Given the description of an element on the screen output the (x, y) to click on. 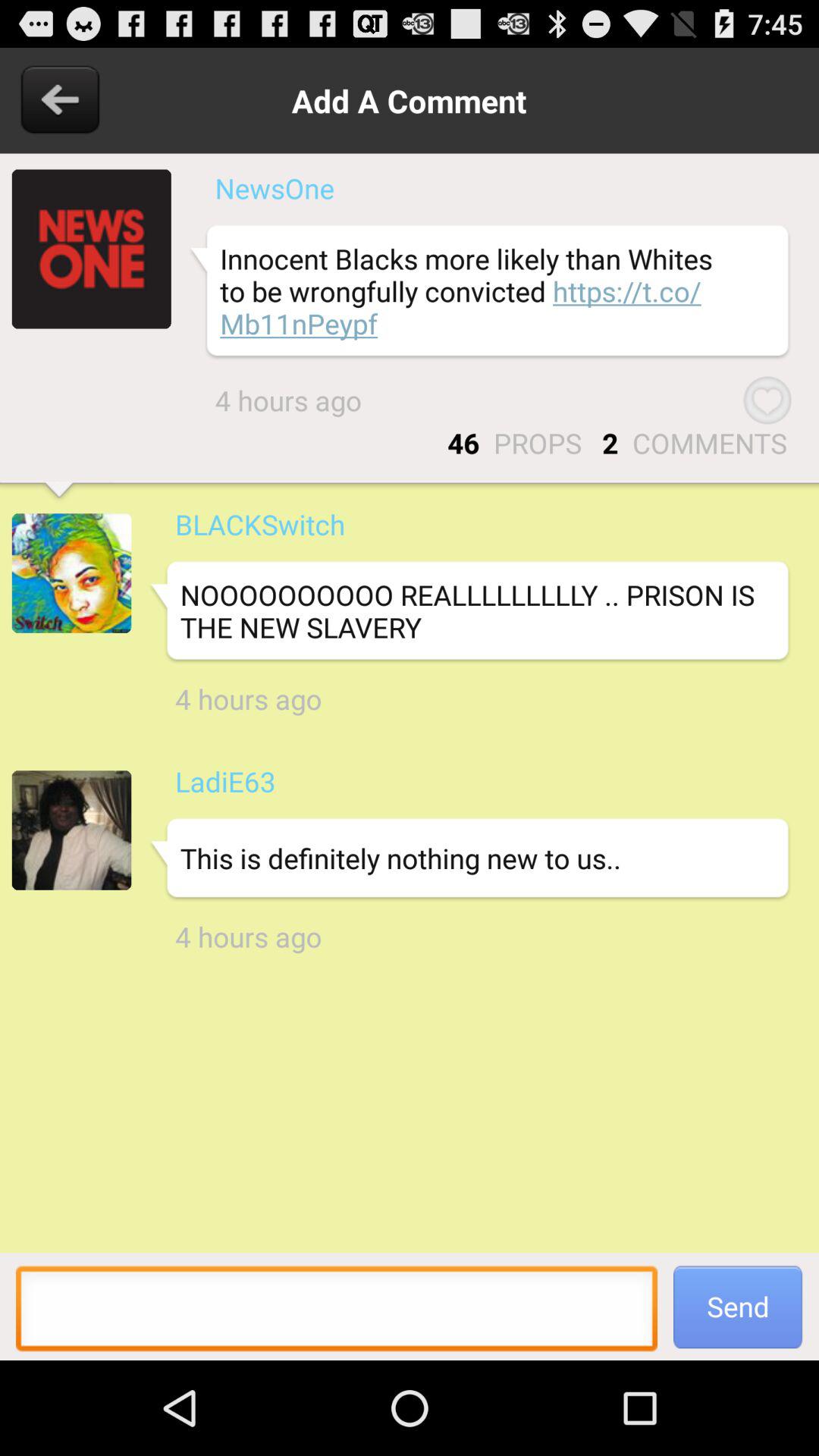
choose the app above the this is definitely icon (225, 781)
